Given the description of an element on the screen output the (x, y) to click on. 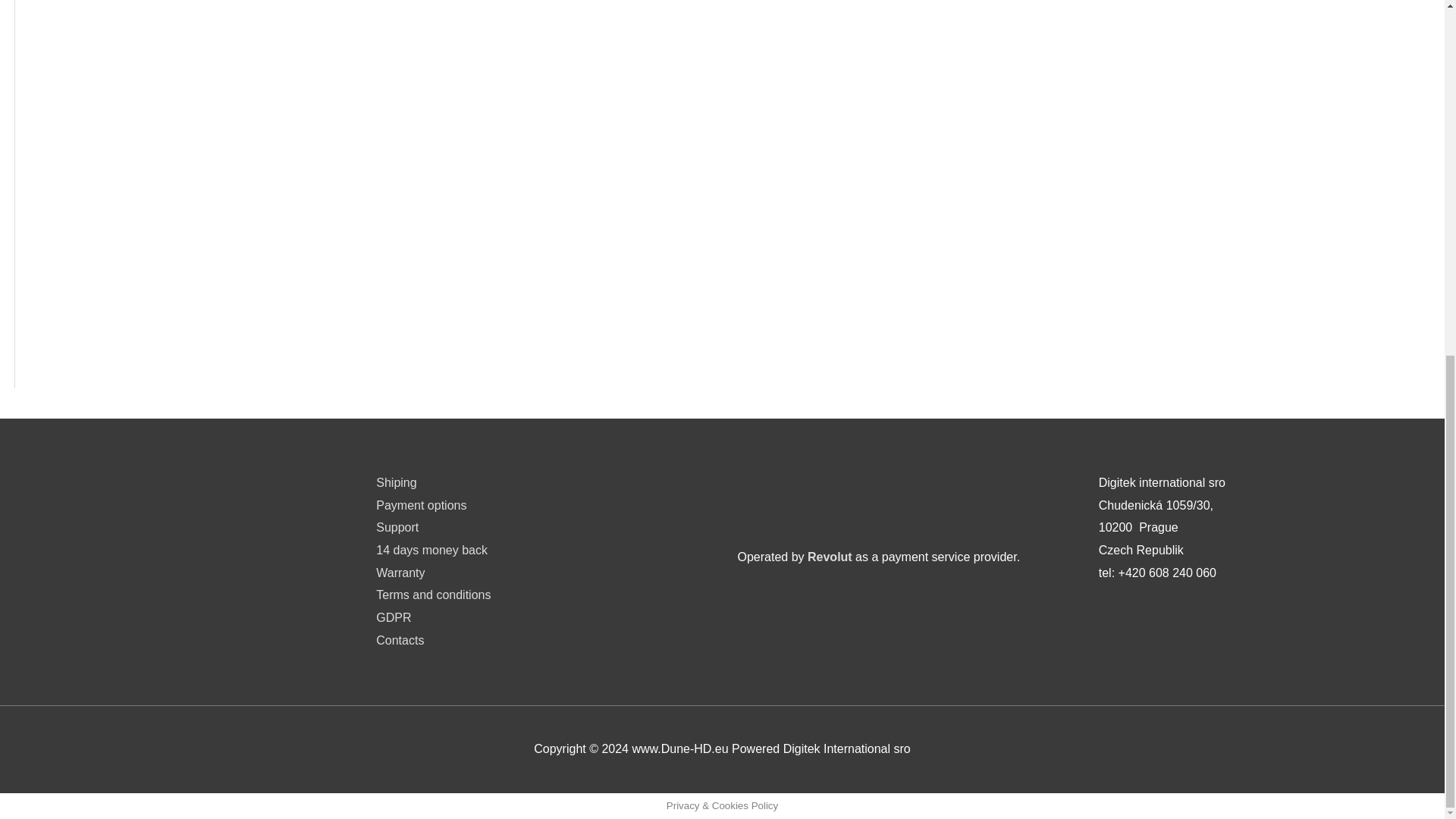
Contacts (399, 640)
Revolut (829, 556)
Payment options (420, 504)
Warranty (400, 572)
14 days money back (431, 549)
Support (397, 526)
Terms and conditions (432, 594)
GDPR (392, 617)
Shiping (395, 481)
